Given the description of an element on the screen output the (x, y) to click on. 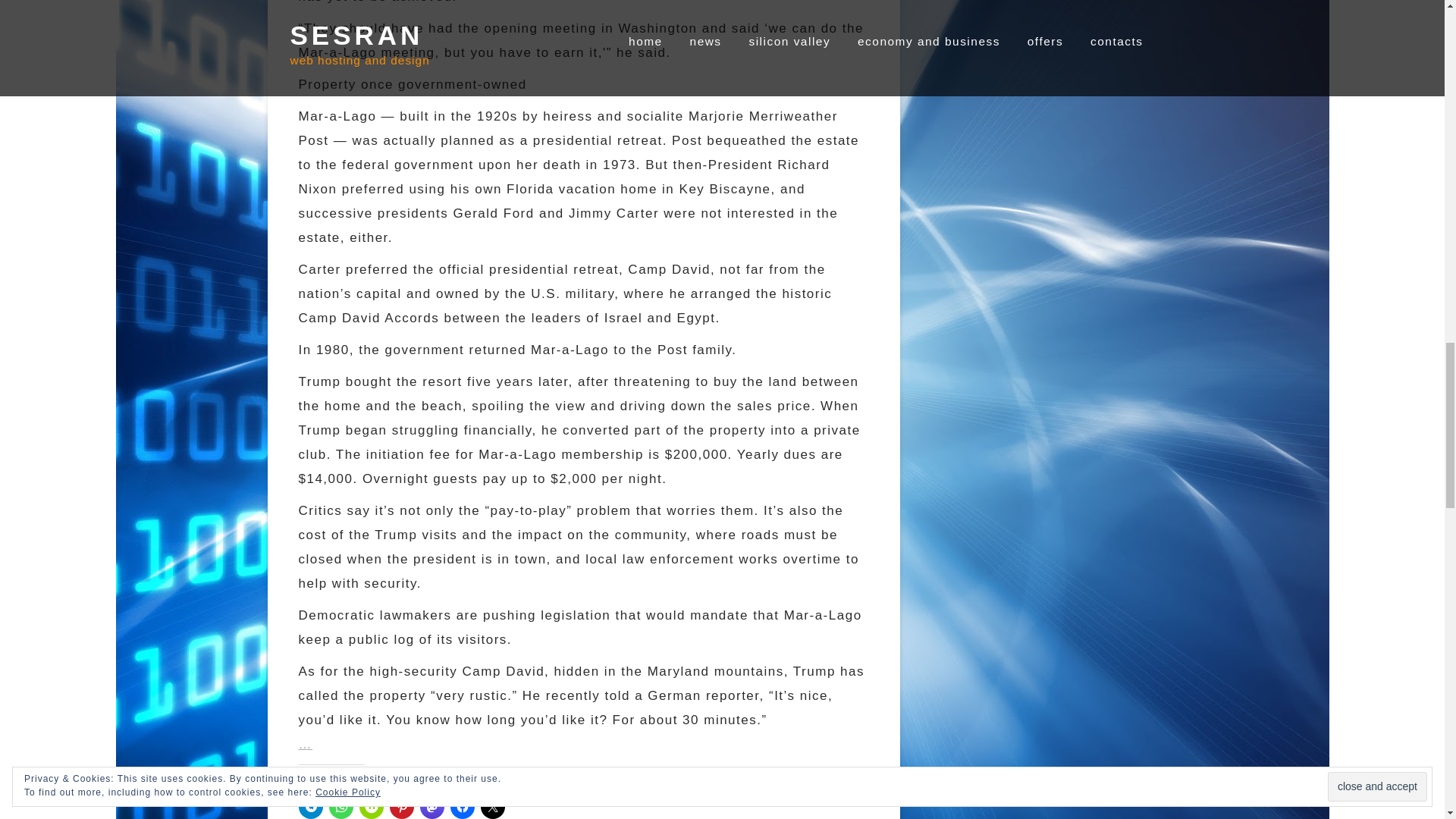
Click to share on Pinterest (401, 806)
Click to share on Facebook (461, 806)
Click to share on X (492, 806)
Click to share on Telegram (310, 806)
Click to share on Nextdoor (371, 806)
Click to share on WhatsApp (341, 806)
Click to share on Mastodon (432, 806)
